Given the description of an element on the screen output the (x, y) to click on. 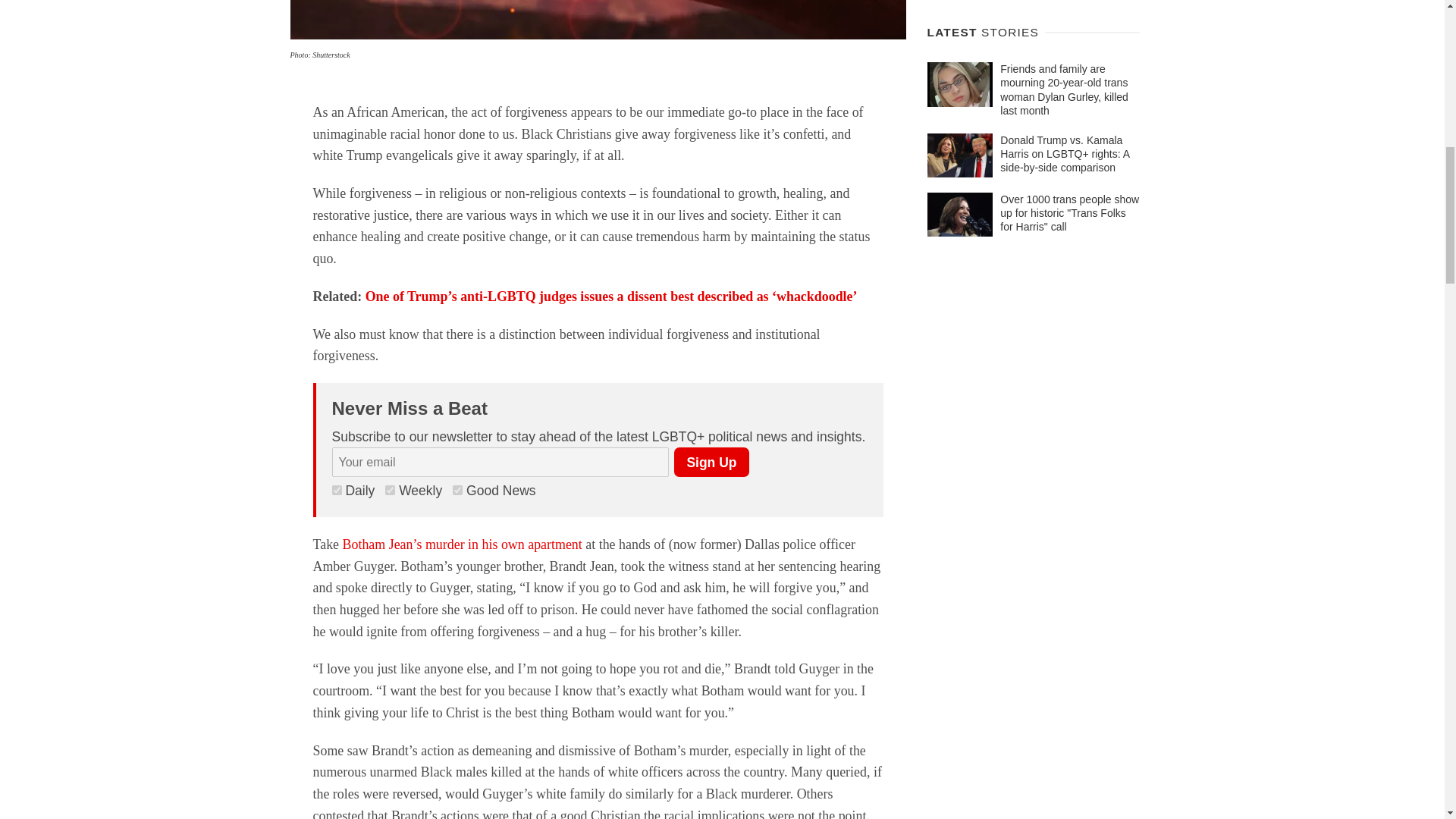
1920883 (457, 490)
1920884 (389, 490)
Sign Up (711, 461)
cross-hands (597, 19)
1920885 (336, 490)
